Given the description of an element on the screen output the (x, y) to click on. 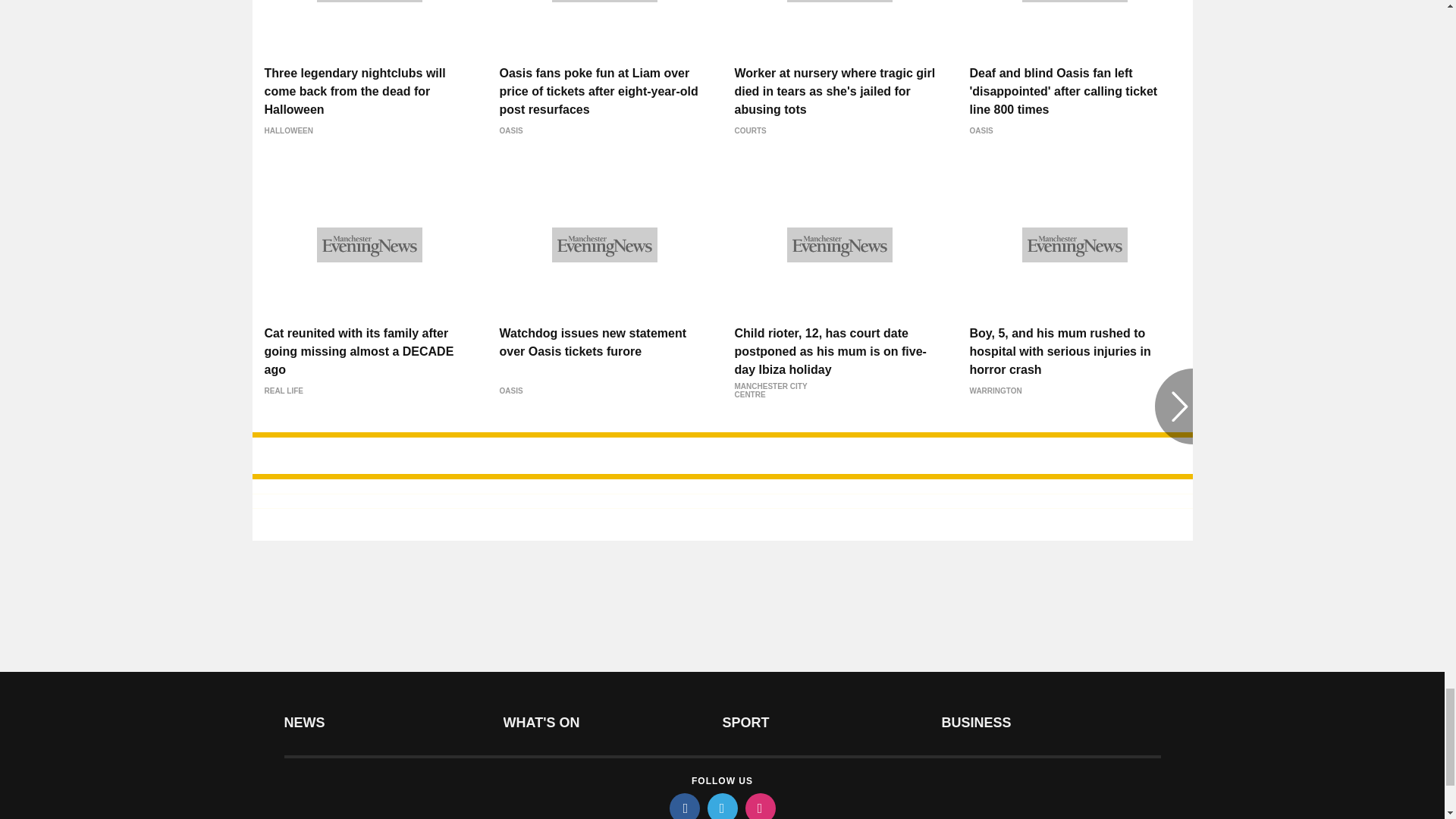
facebook (683, 806)
twitter (721, 806)
instagram (759, 806)
